Given the description of an element on the screen output the (x, y) to click on. 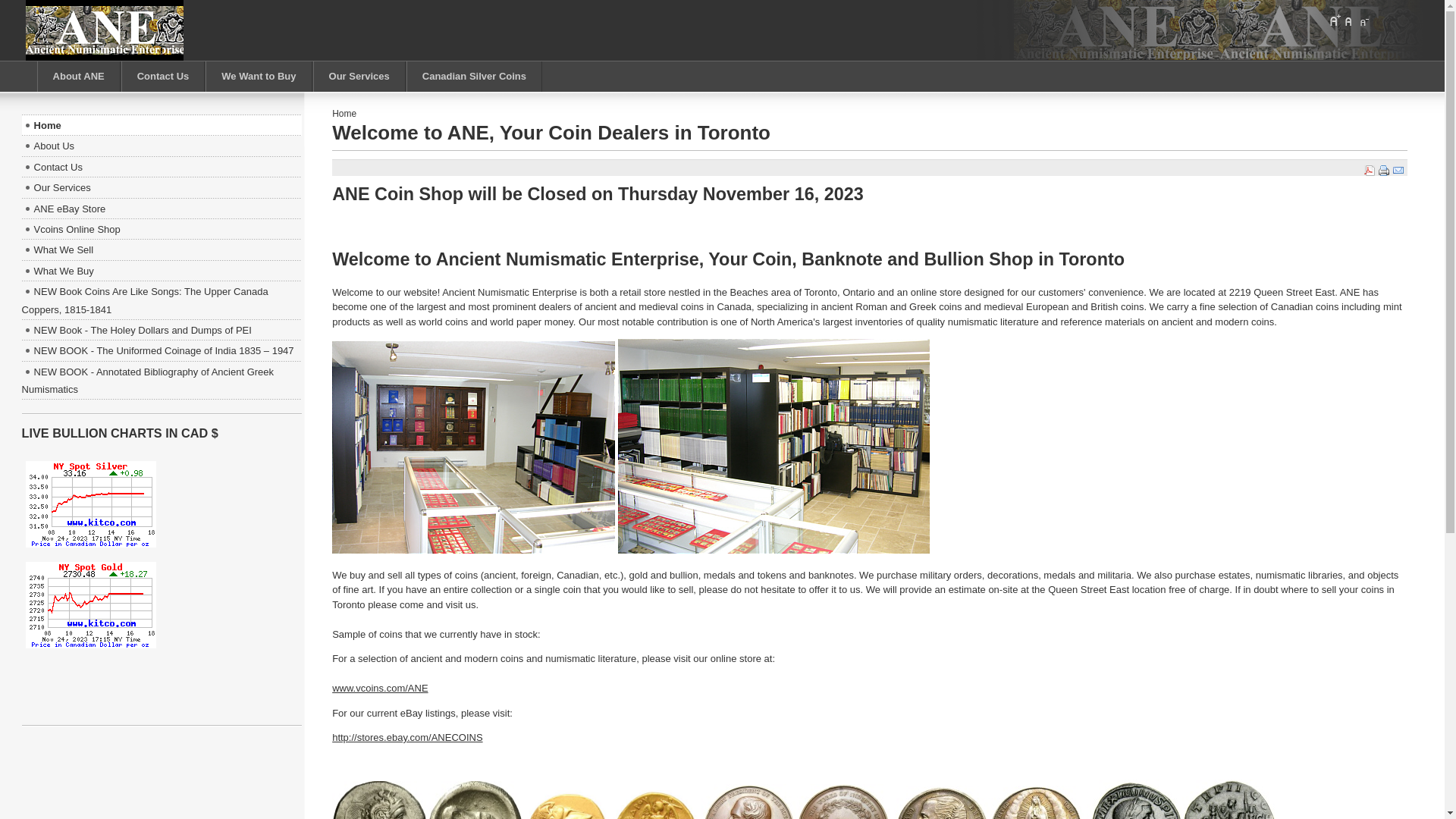
Our Services Element type: text (161, 187)
What We Sell Element type: text (161, 249)
Contact Us Element type: text (161, 166)
About ANE Element type: text (78, 76)
http://stores.ebay.com/ANECOINS Element type: text (407, 737)
anecoins.ca Element type: hover (104, 30)
Our Services Element type: text (358, 76)
Decrease font size Element type: hover (1363, 20)
Default font size Element type: hover (1349, 20)
Vcoins Online Shop Element type: text (161, 229)
ANE eBay Store Element type: text (161, 208)
Home Element type: text (161, 125)
About Us Element type: text (161, 145)
We Want to Buy Element type: text (258, 76)
What We Buy Element type: text (161, 270)
Increase font size Element type: hover (1334, 20)
Contact Us Element type: text (163, 76)
NEW Book - The Holey Dollars and Dumps of PEI Element type: text (161, 330)
Canadian Silver Coins Element type: text (474, 76)
www.vcoins.com/ANE Element type: text (379, 687)
